Given the description of an element on the screen output the (x, y) to click on. 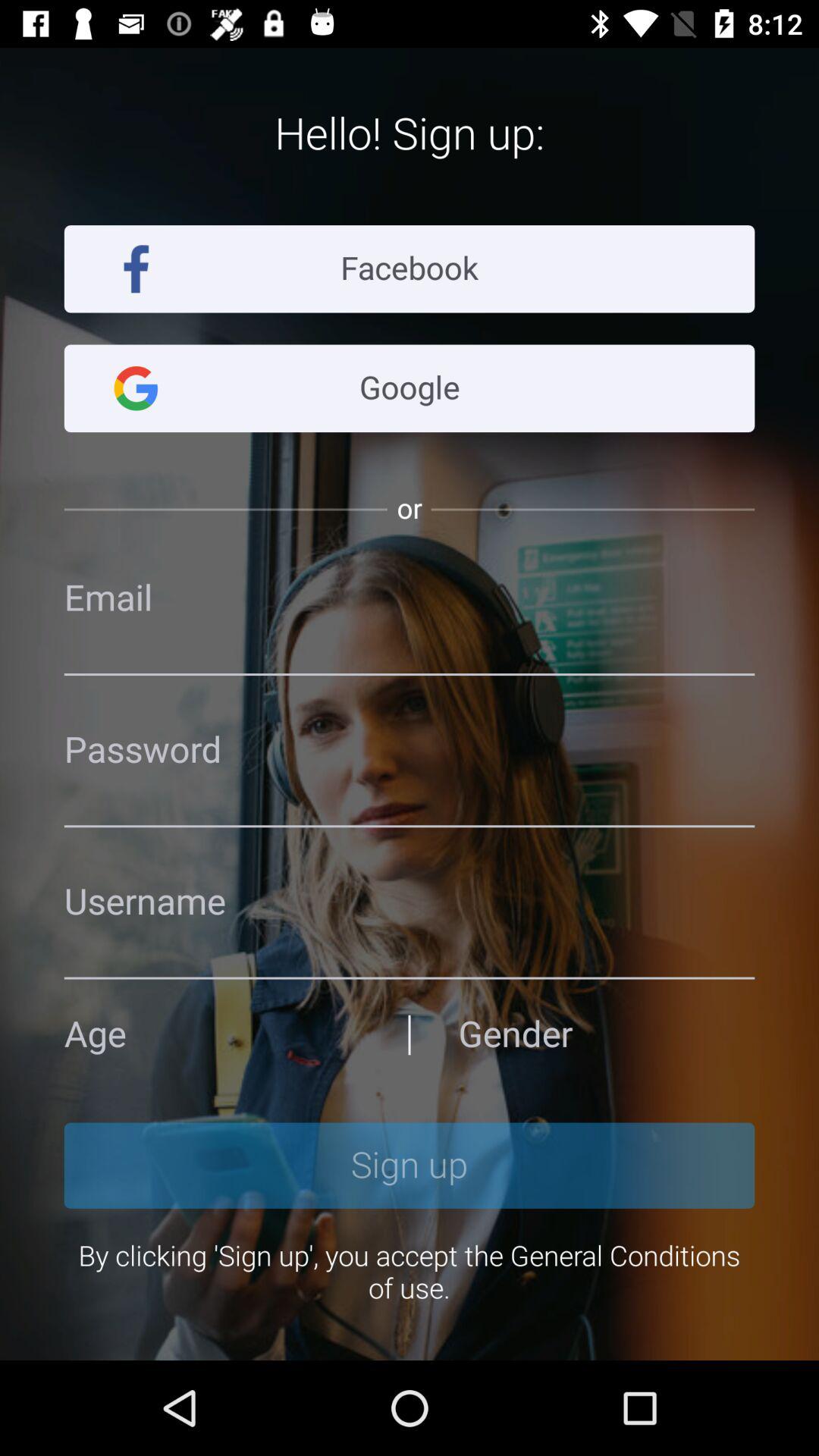
space to enter password (409, 750)
